Given the description of an element on the screen output the (x, y) to click on. 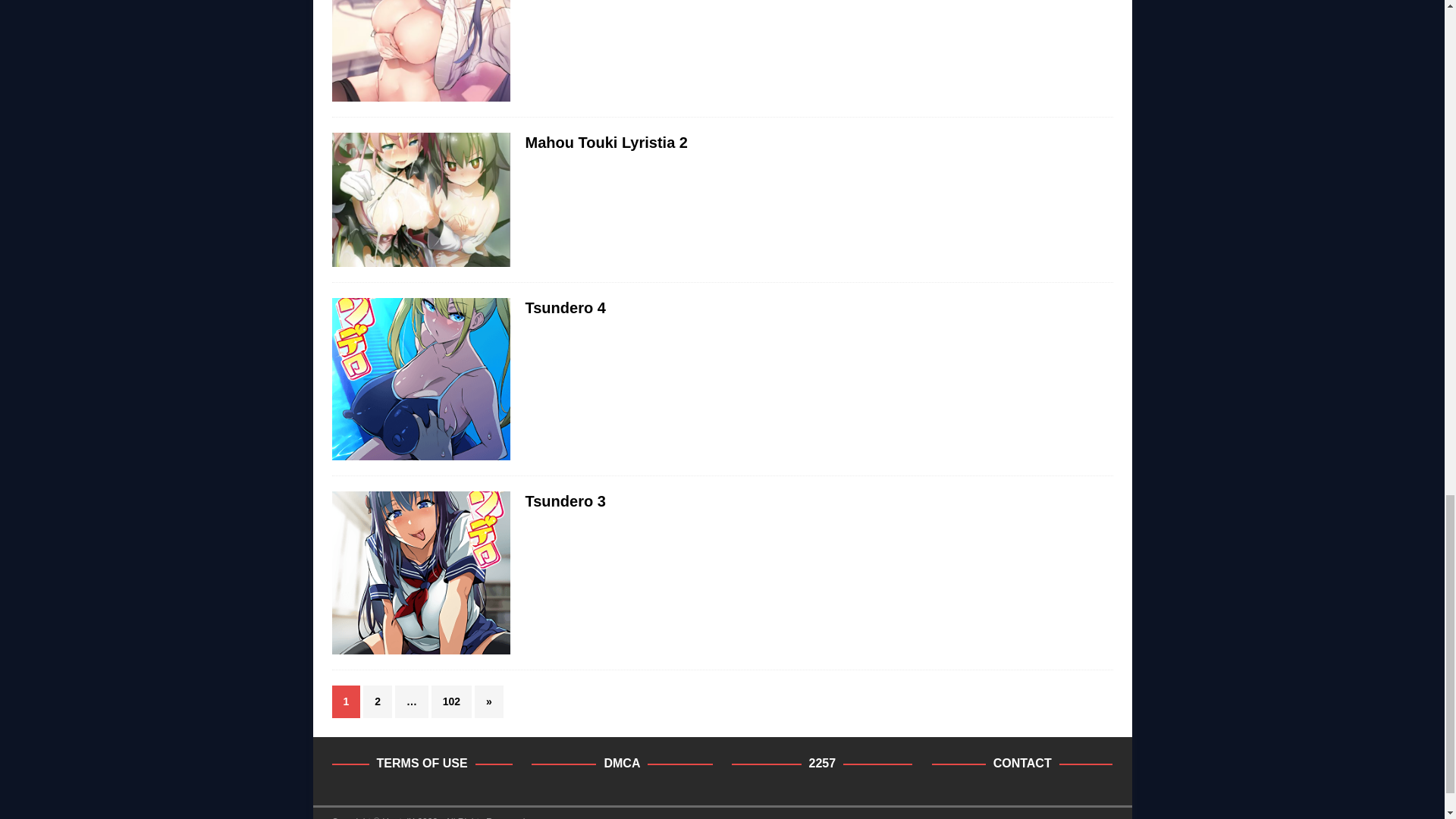
TERMS OF USE (422, 762)
2 (376, 701)
Mahou Touki Lyristia 2 (605, 142)
Tsundero 3 (564, 501)
Tsundero 3 (564, 501)
Tsundero 4 (564, 307)
Tsundero 4 (564, 307)
Mahou Touki Lyristia 2 (605, 142)
102 (450, 701)
